Given the description of an element on the screen output the (x, y) to click on. 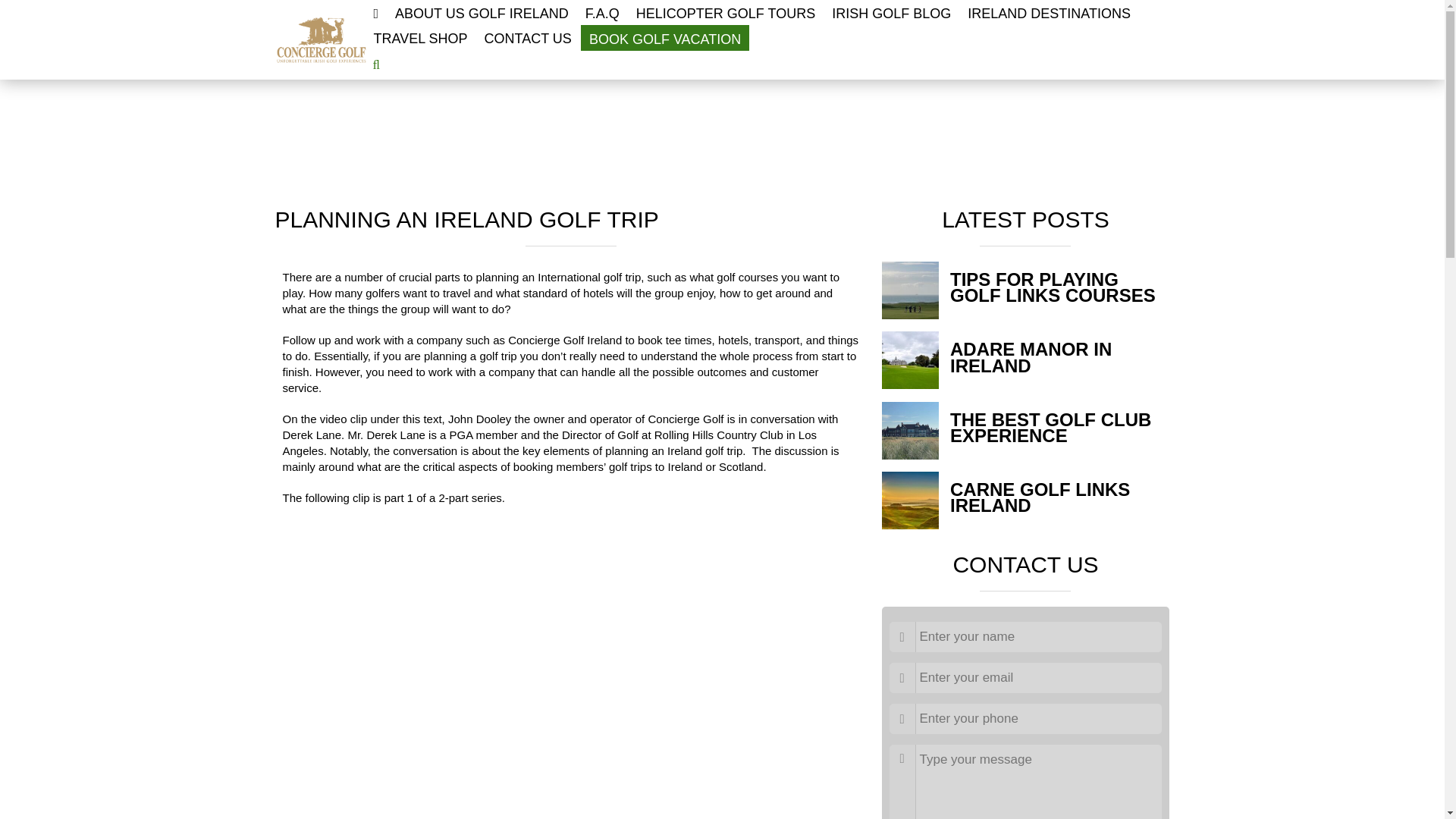
IRELAND DESTINATIONS (1048, 12)
TRAVEL SHOP (419, 37)
ABOUT US GOLF IRELAND (481, 12)
IRISH GOLF BLOG (891, 12)
BOOK GOLF VACATION (664, 37)
ADARE MANOR IN IRELAND (1031, 357)
TIPS FOR PLAYING GOLF LINKS COURSES (1053, 287)
Adare Manor in Ireland (1031, 357)
Tips for Playing Golf Links Courses (1053, 287)
Carne Golf Links Ireland (1039, 497)
HELICOPTER GOLF TOURS (725, 12)
CARNE GOLF LINKS IRELAND (1039, 497)
THE BEST GOLF CLUB EXPERIENCE  (1050, 427)
CONTACT US (528, 37)
